Given the description of an element on the screen output the (x, y) to click on. 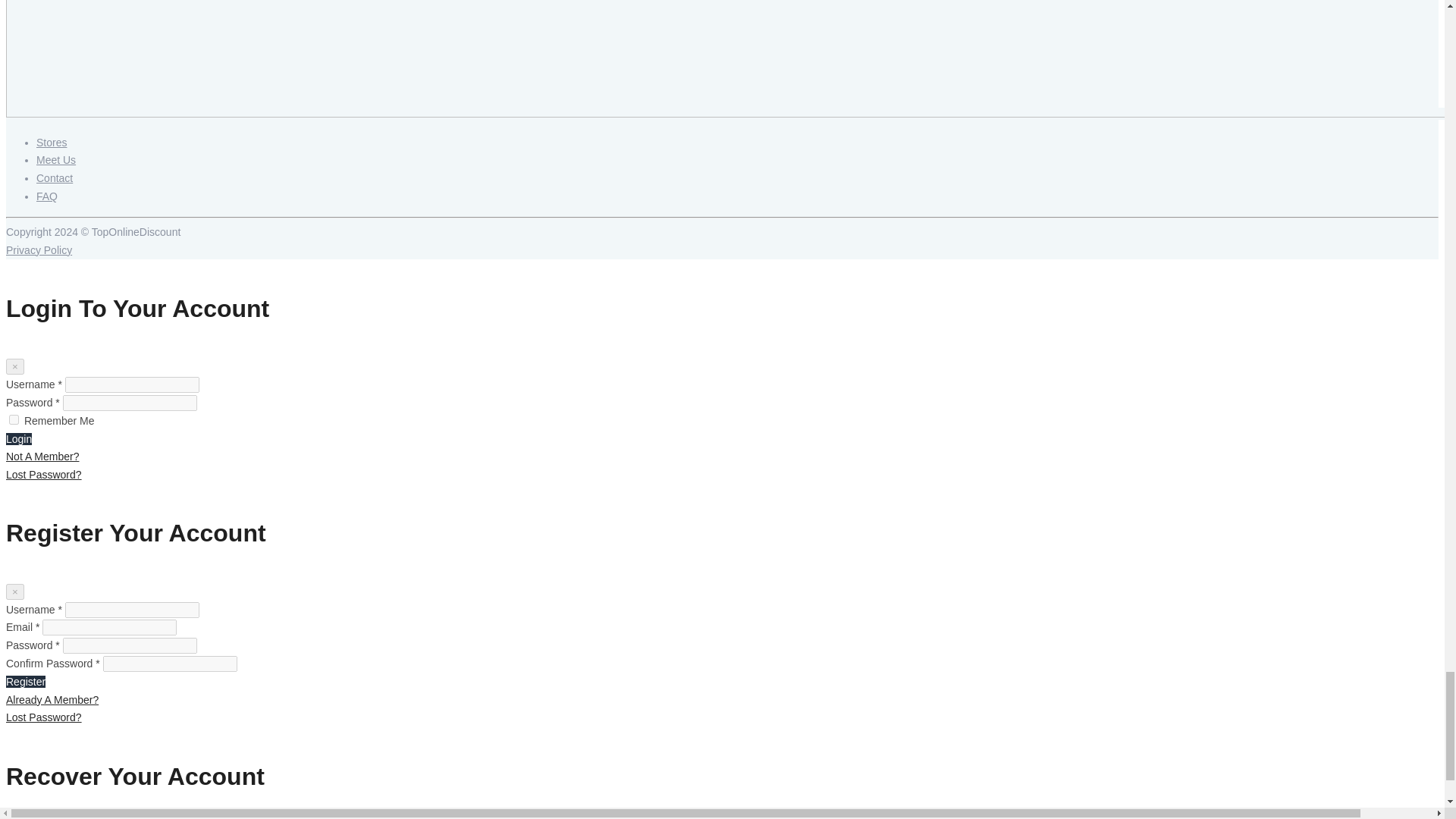
Privacy Policy (38, 250)
FAQ (47, 196)
Stores (51, 142)
Meet Us (55, 159)
Meet Us (55, 159)
Contact (54, 177)
Stores (51, 142)
Contact (54, 177)
on (13, 419)
FAQ (47, 196)
